Given the description of an element on the screen output the (x, y) to click on. 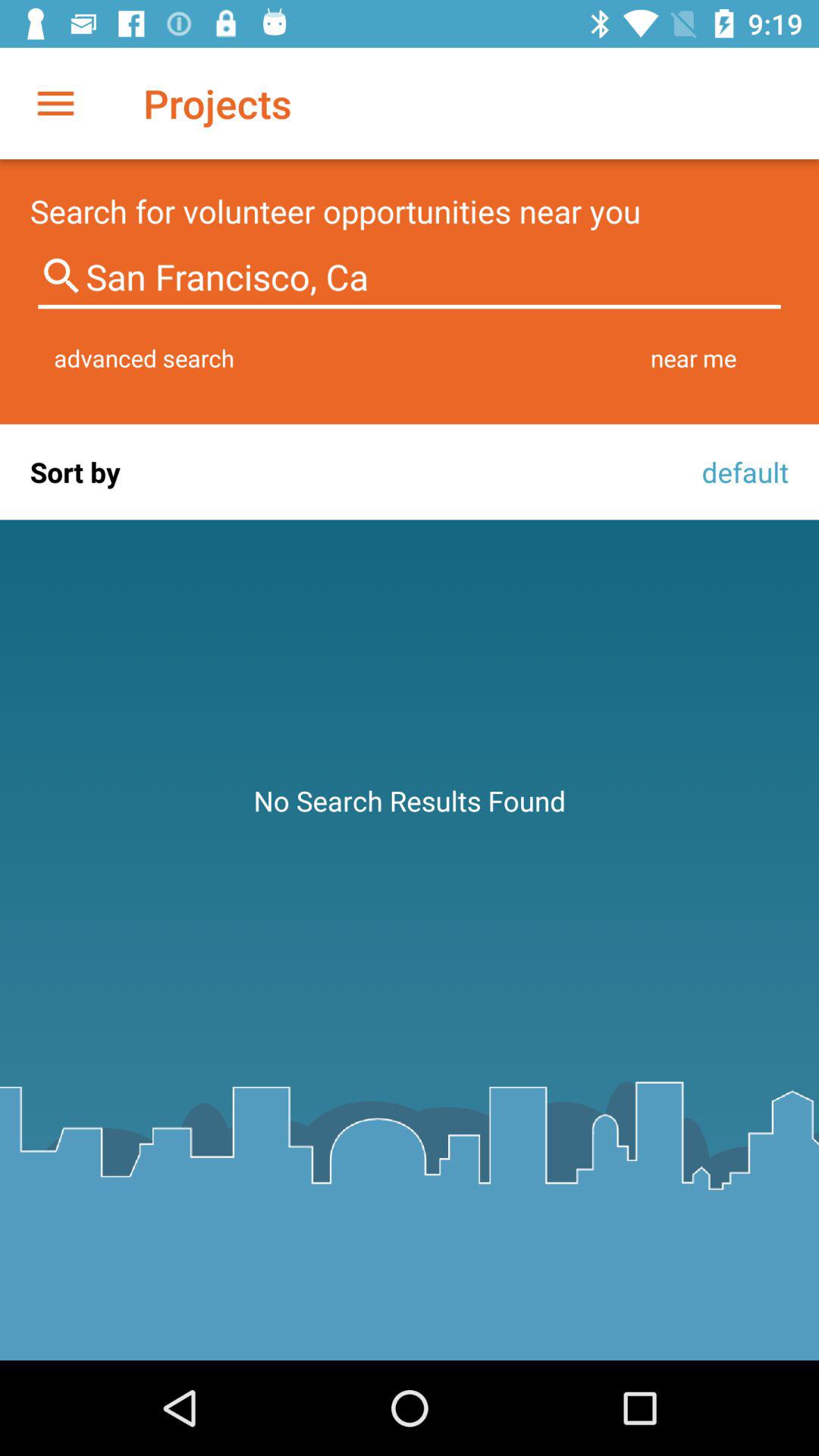
launch the icon to the right of the sort by icon (740, 471)
